Given the description of an element on the screen output the (x, y) to click on. 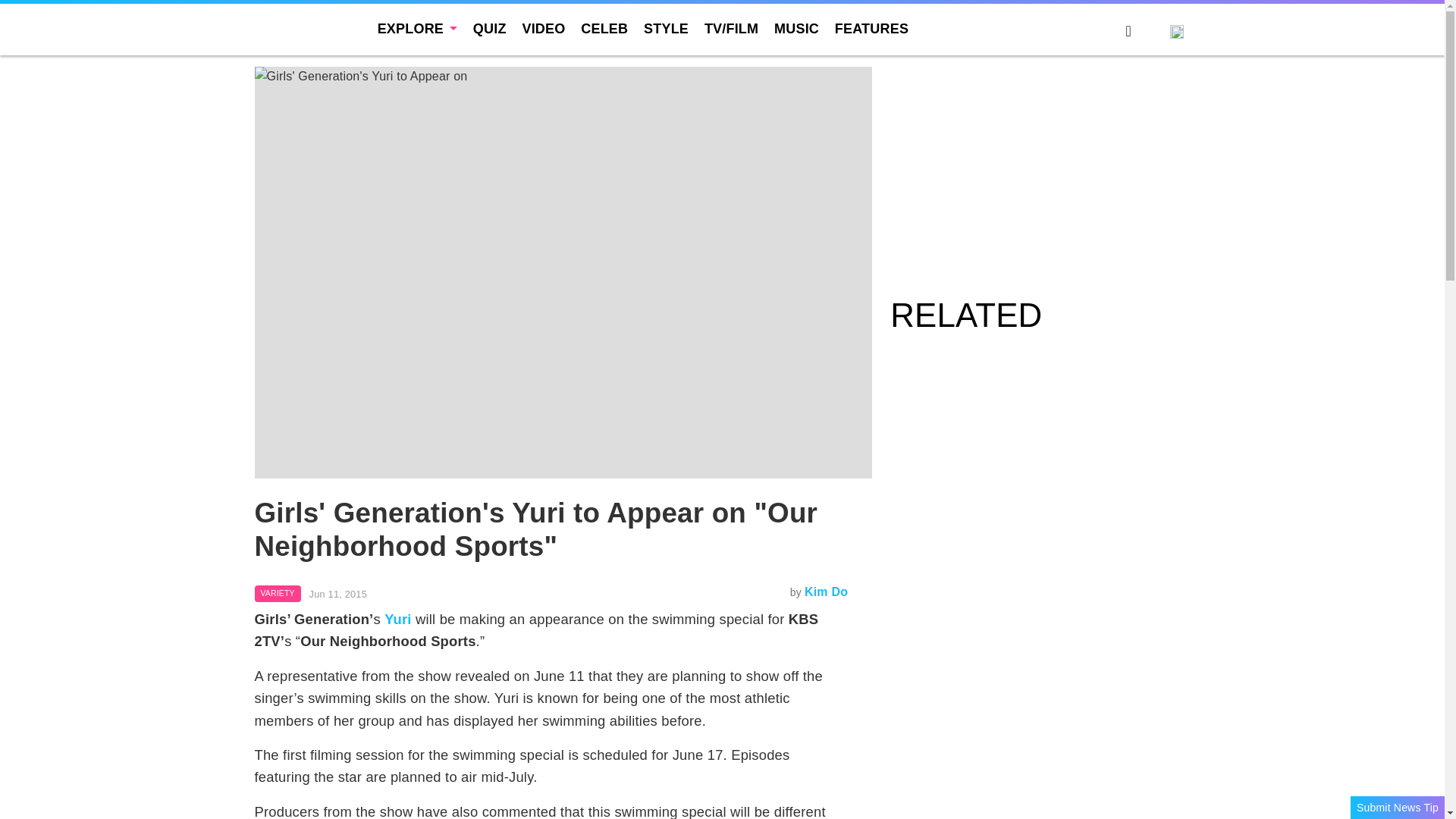
MUSIC (796, 28)
EXPLORE (417, 28)
Articles by Kim Do (826, 591)
QUIZ (489, 28)
Yuri (398, 618)
Variety (277, 593)
FEATURES (871, 28)
VIDEO (542, 28)
Kim Do (826, 591)
STYLE (665, 28)
